Given the description of an element on the screen output the (x, y) to click on. 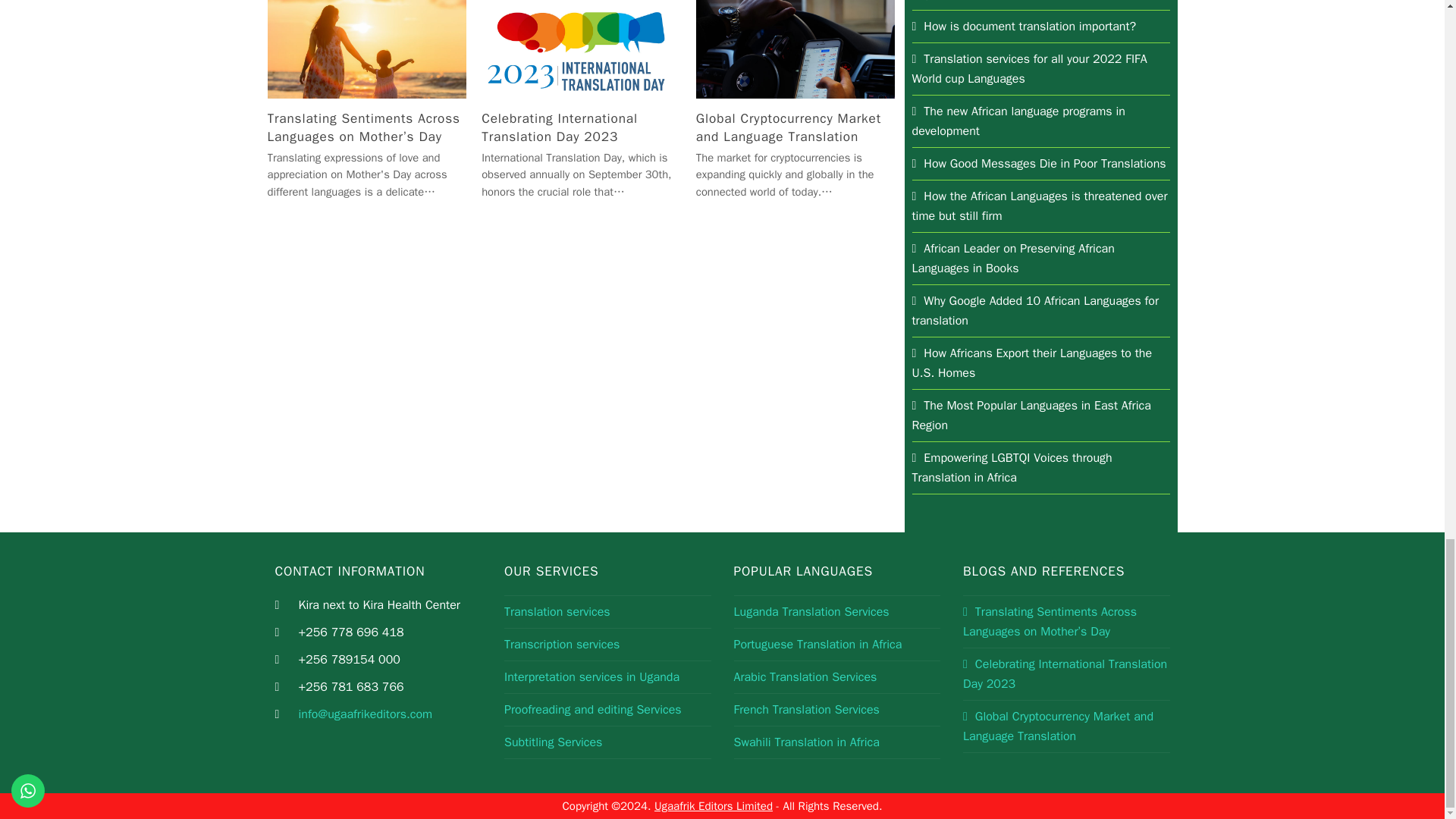
Global Cryptocurrency Market and Language Translation (795, 47)
Celebrating International Translation Day 2023 (581, 47)
